Given the description of an element on the screen output the (x, y) to click on. 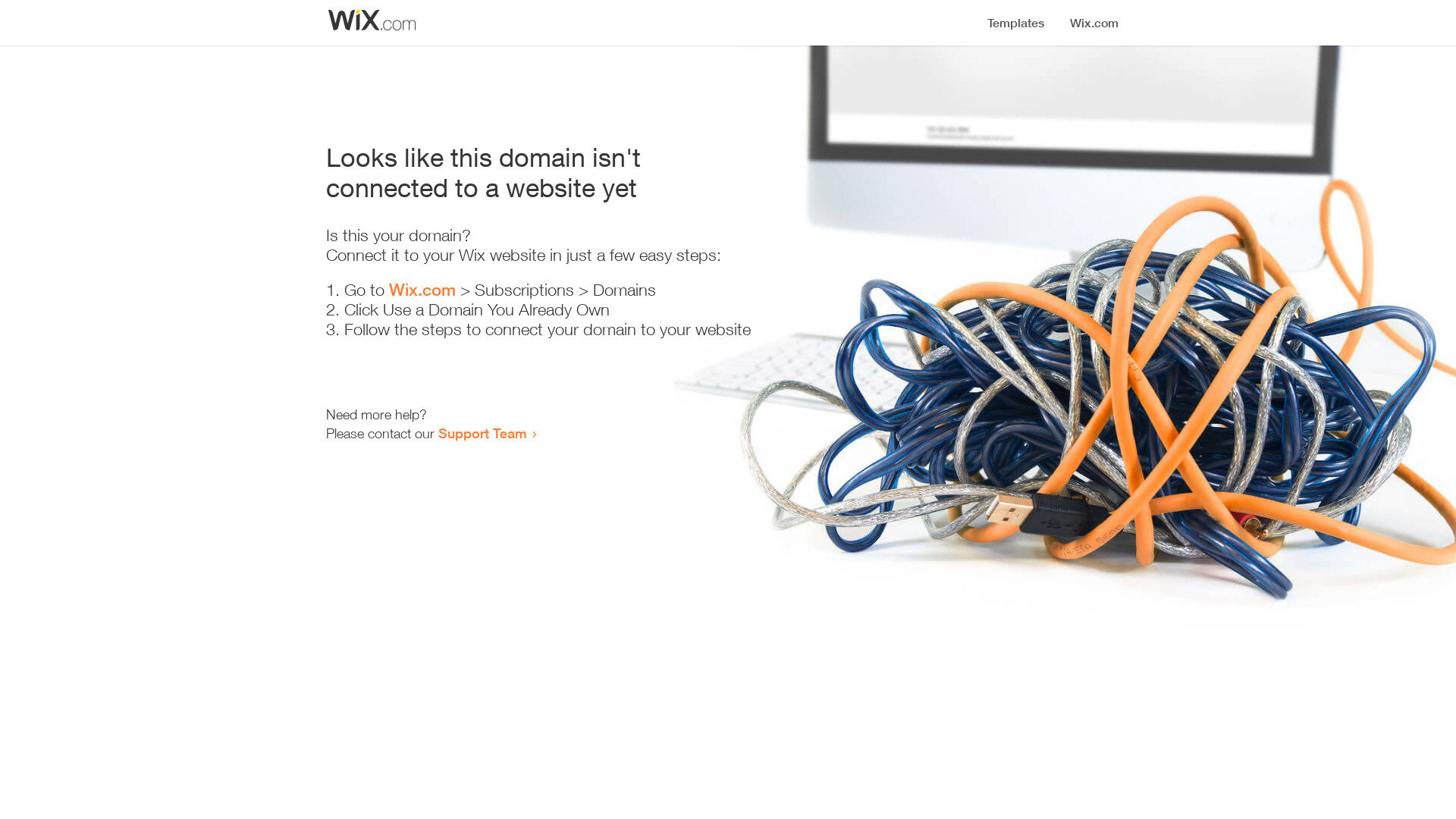
Wix.com Element type: text (422, 289)
Support Team Element type: text (482, 432)
